Given the description of an element on the screen output the (x, y) to click on. 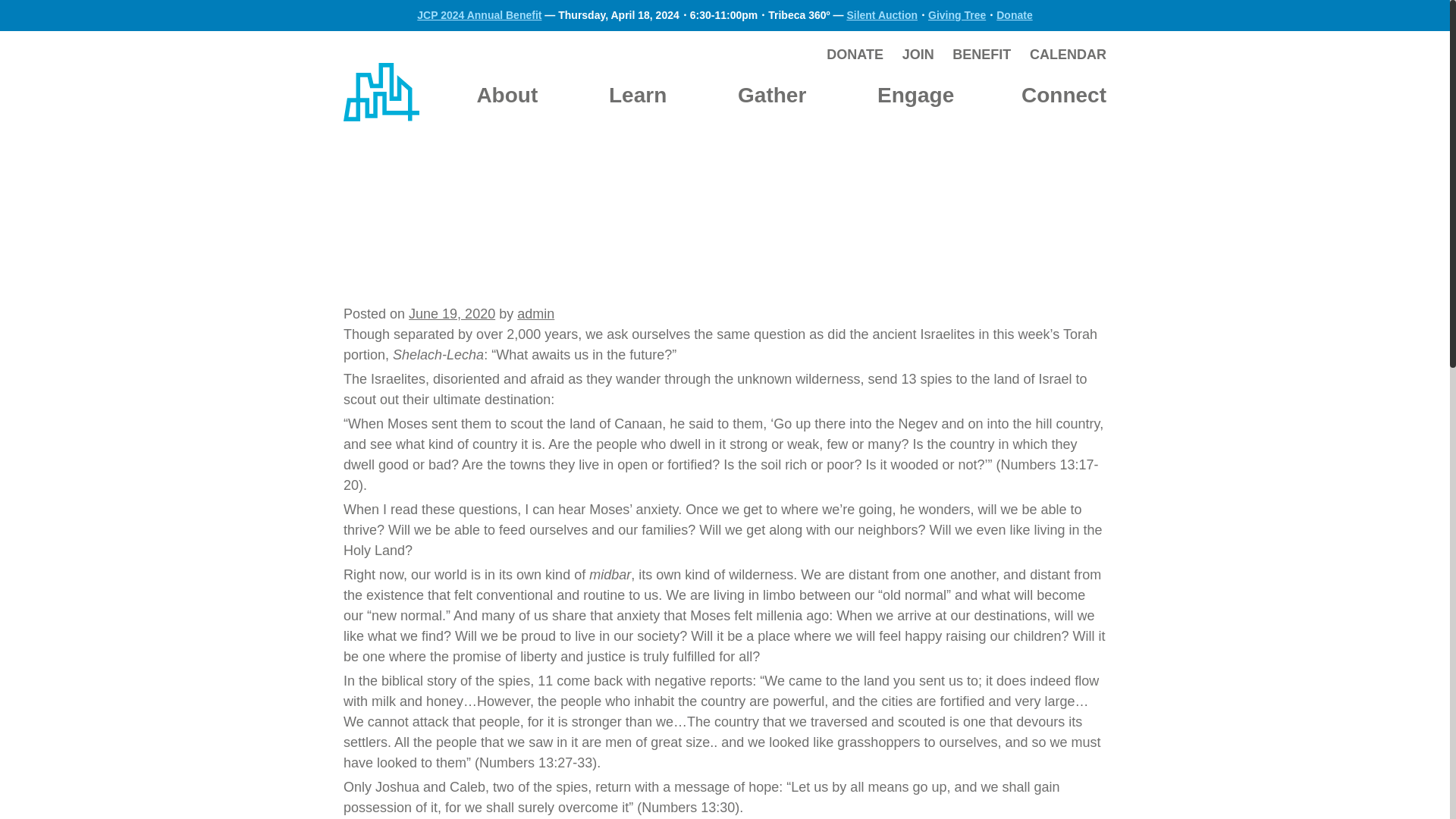
BENEFIT (981, 54)
About (506, 95)
Silent Auction (881, 15)
JCP 2024 Annual Benefit (478, 15)
Learn (637, 95)
Donate (1013, 15)
Giving Tree (956, 15)
JOIN (918, 54)
DONATE (855, 54)
CALENDAR (1067, 54)
